Given the description of an element on the screen output the (x, y) to click on. 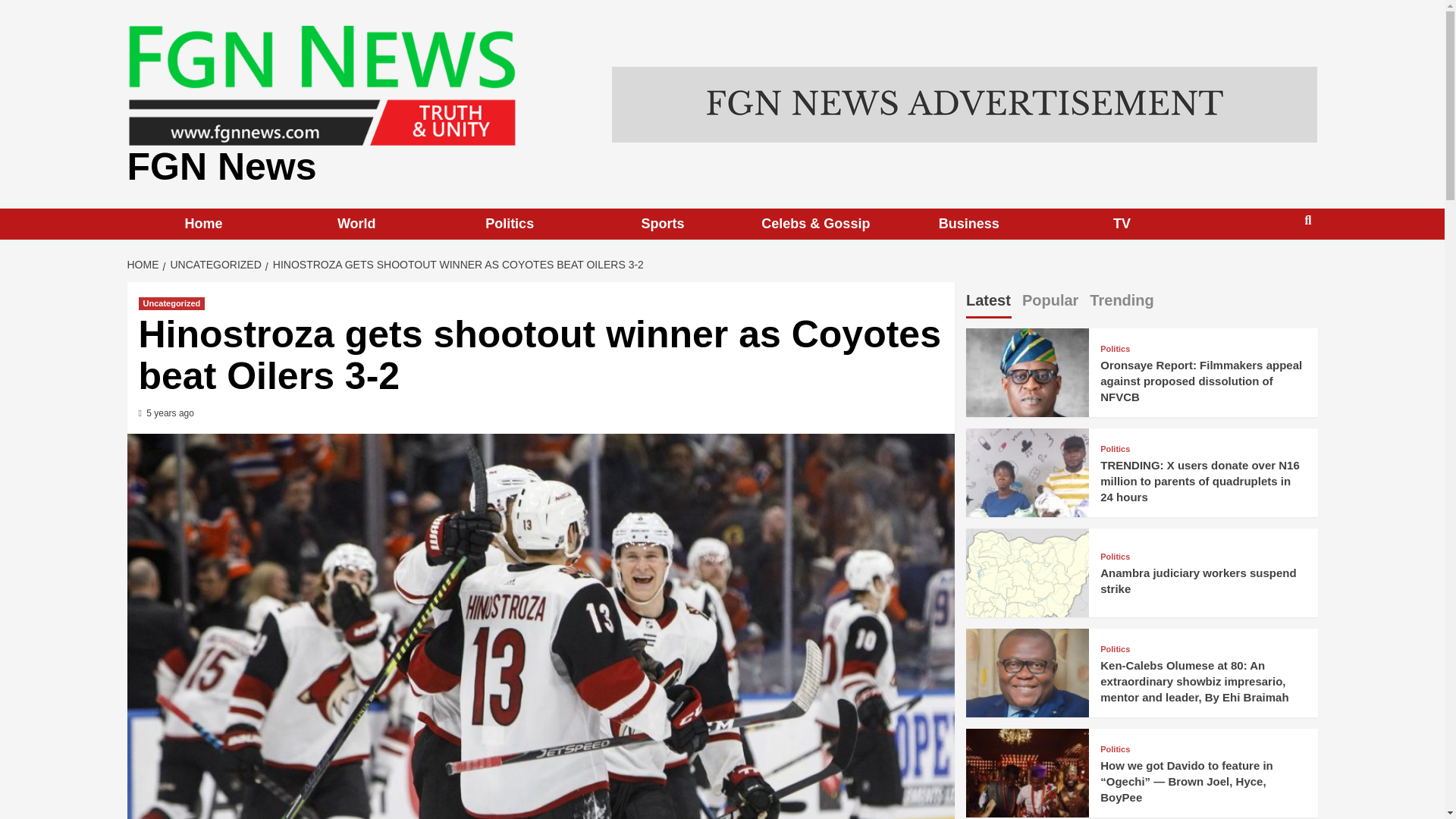
World (355, 223)
Politics (509, 223)
UNCATEGORIZED (212, 264)
TV (1121, 223)
Search (1272, 269)
Sports (662, 223)
HINOSTROZA GETS SHOOTOUT WINNER AS COYOTES BEAT OILERS 3-2 (455, 264)
HOME (145, 264)
5 years ago (170, 412)
FGN News (222, 166)
Business (968, 223)
Uncategorized (171, 303)
Home (204, 223)
Search (1307, 220)
